Given the description of an element on the screen output the (x, y) to click on. 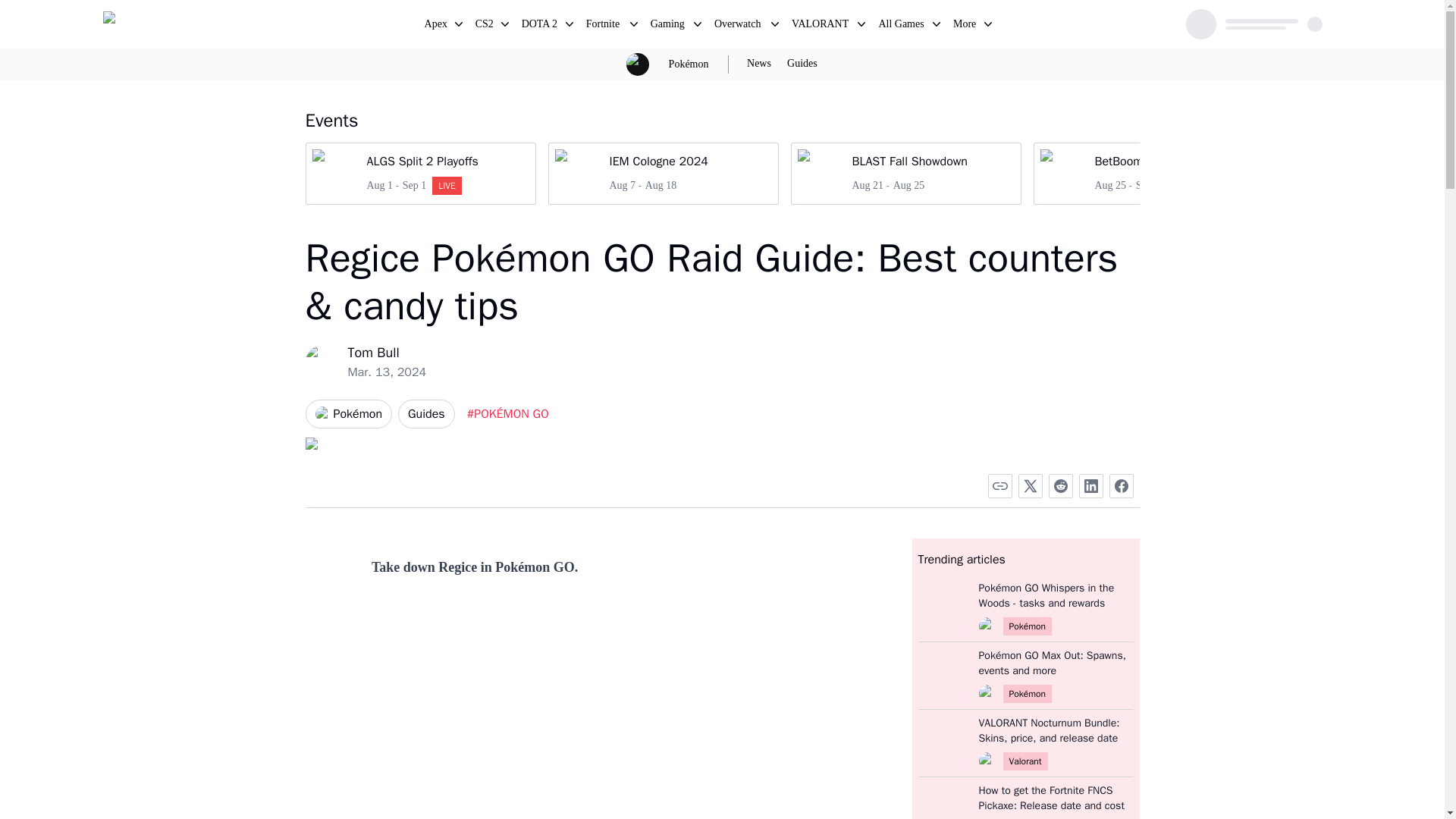
Gaming (662, 173)
Fortnite (668, 25)
VALORANT (604, 25)
Guides (821, 25)
Guides (802, 64)
DOTA 2 (802, 64)
Gaming (540, 25)
Overwatch (668, 25)
Apex (739, 25)
